Given the description of an element on the screen output the (x, y) to click on. 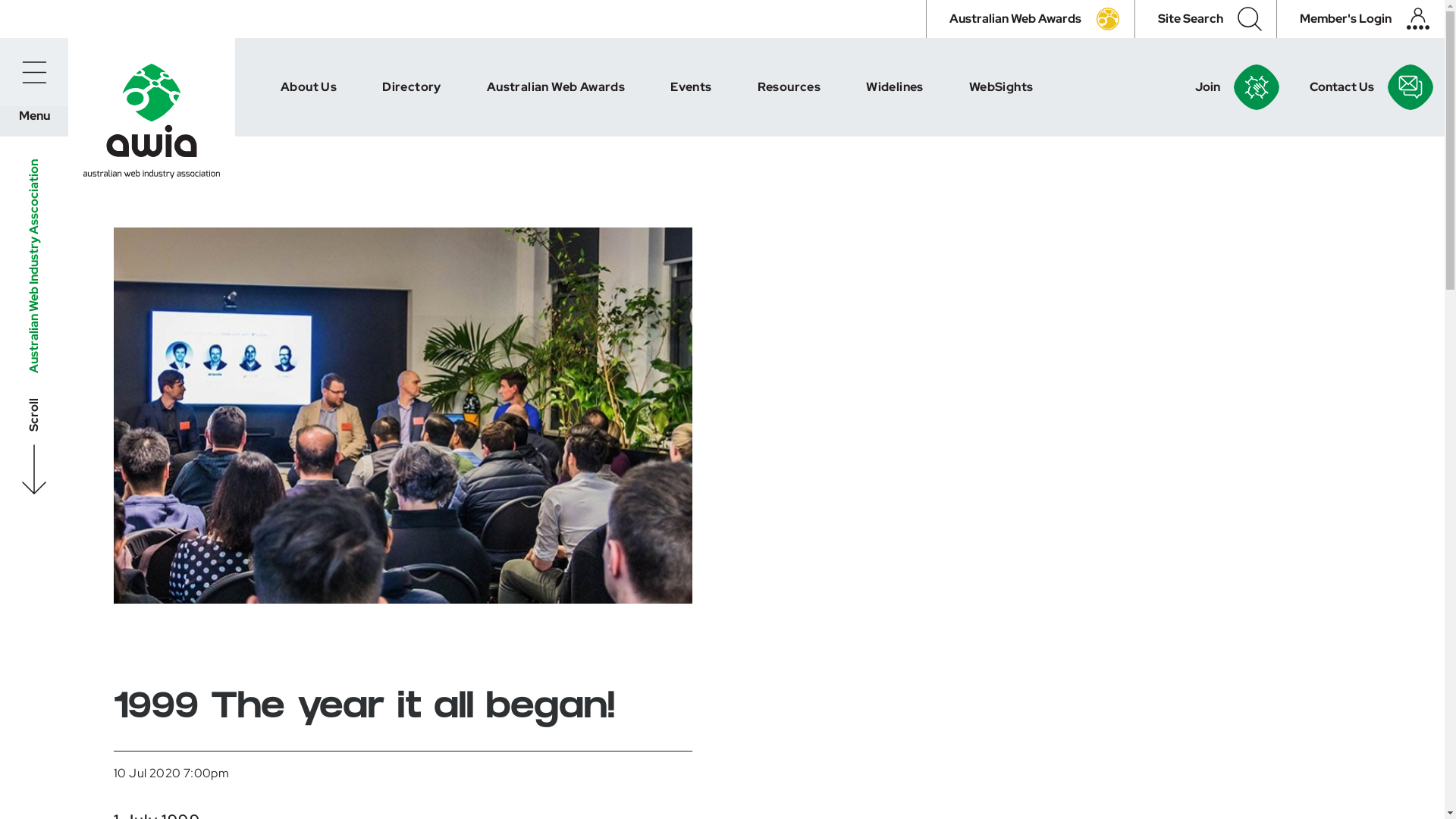
WebSights Element type: text (1001, 86)
Join Element type: text (1233, 86)
Menu Element type: text (34, 71)
Scroll Australian Web Industry Asscociation Element type: text (185, 181)
Contact Us Element type: text (1367, 86)
Australian Web Awards Element type: text (555, 86)
Australian Web Awards Element type: text (1029, 18)
Events Element type: text (690, 86)
Site Search Element type: text (1205, 18)
Widelines Element type: text (894, 86)
Member's Login Element type: text (1360, 18)
About Us Element type: text (308, 86)
Resources Element type: text (789, 86)
Directory Element type: text (411, 86)
